Given the description of an element on the screen output the (x, y) to click on. 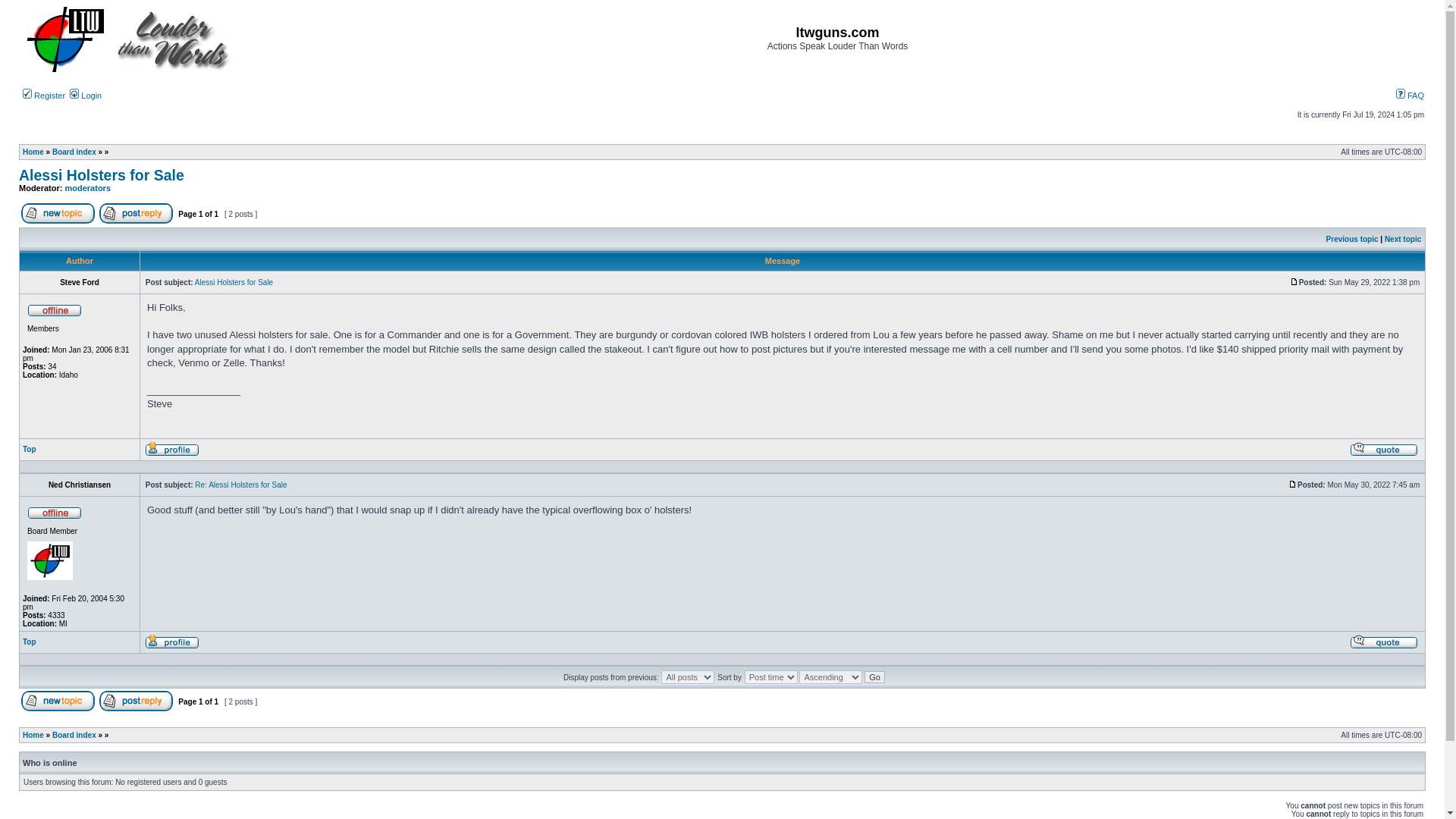
Reply to topic (136, 700)
Offline (54, 309)
Login (85, 94)
Reply with quote (1383, 448)
Profile (171, 641)
Re: Alessi Holsters for Sale (240, 484)
Go (874, 676)
Board index (74, 735)
Register (44, 94)
Home (33, 735)
Reply with quote (1383, 645)
moderators (88, 187)
Reply to topic (136, 707)
Post new topic (57, 700)
Post new topic (57, 707)
